Given the description of an element on the screen output the (x, y) to click on. 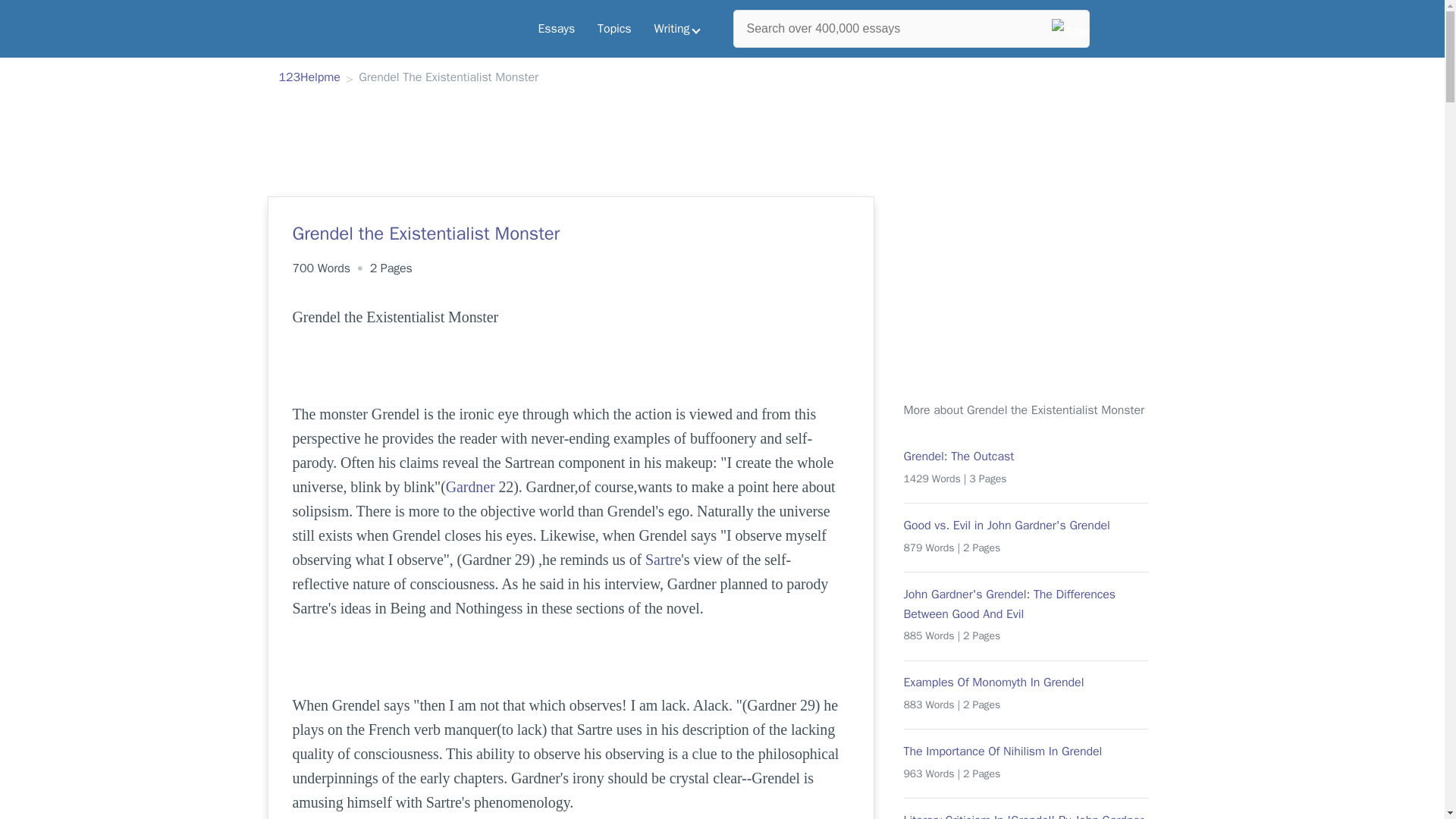
Sartre (663, 559)
Topics (614, 28)
Writing (677, 28)
Gardner (470, 486)
123Helpme (309, 78)
Essays (555, 28)
